Given the description of an element on the screen output the (x, y) to click on. 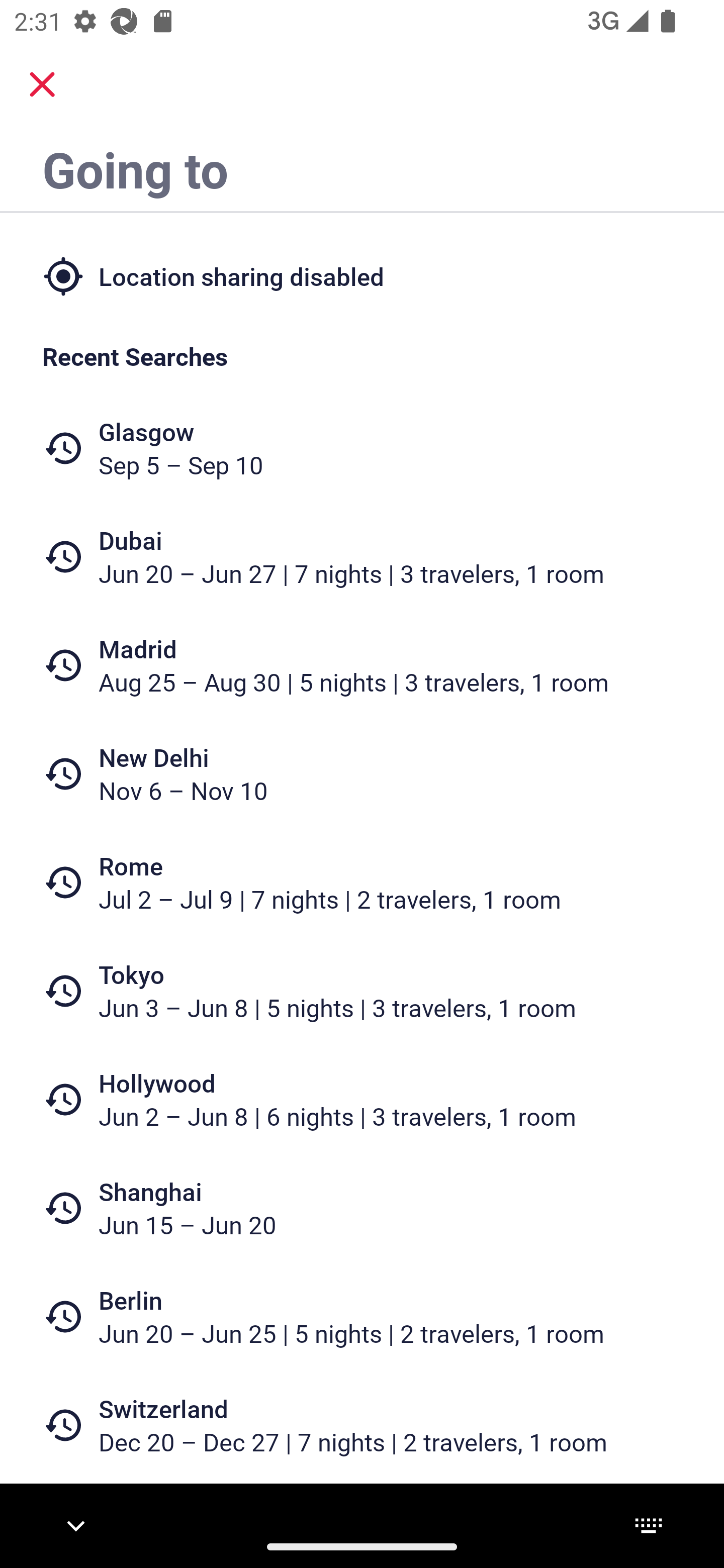
close. (42, 84)
Location sharing disabled (362, 275)
Glasgow Sep 5 – Sep 10 (362, 448)
New Delhi Nov 6 – Nov 10 (362, 773)
Shanghai Jun 15 – Jun 20 (362, 1208)
